Given the description of an element on the screen output the (x, y) to click on. 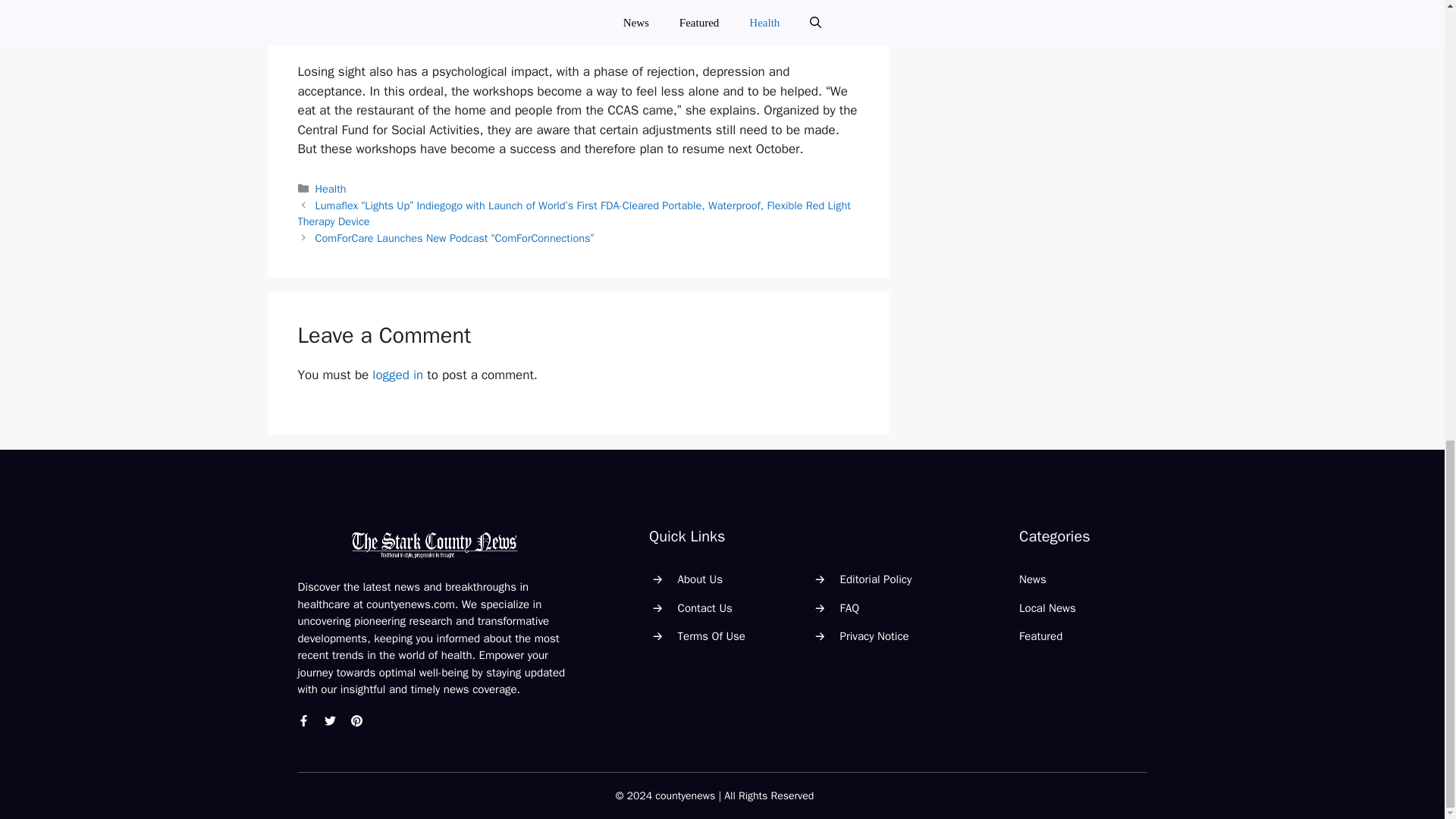
Health (330, 188)
Privacy Notice (874, 635)
Local News (1047, 608)
Contact Us (705, 608)
FAQ (849, 608)
logged in (397, 374)
News (1032, 579)
About Us (700, 579)
Featured (1040, 635)
logo-2-2 (433, 544)
